Given the description of an element on the screen output the (x, y) to click on. 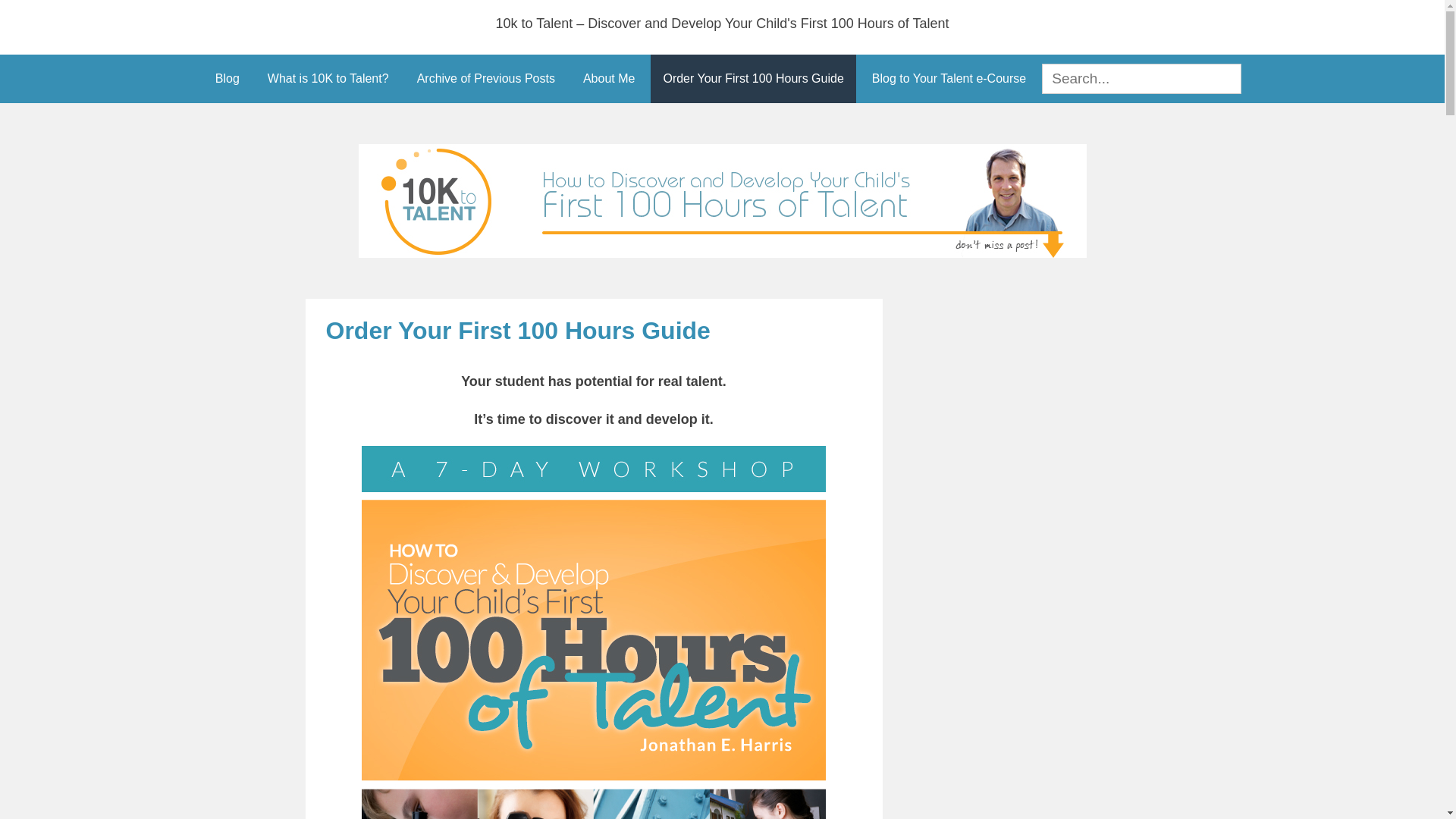
What is 10K to Talent? Element type: text (328, 78)
Blog Element type: text (227, 78)
About Me Element type: text (608, 78)
Order Your First 100 Hours Guide Element type: text (752, 78)
Blog to Your Talent e-Course Element type: text (948, 78)
Archive of Previous Posts Element type: text (485, 78)
